Given the description of an element on the screen output the (x, y) to click on. 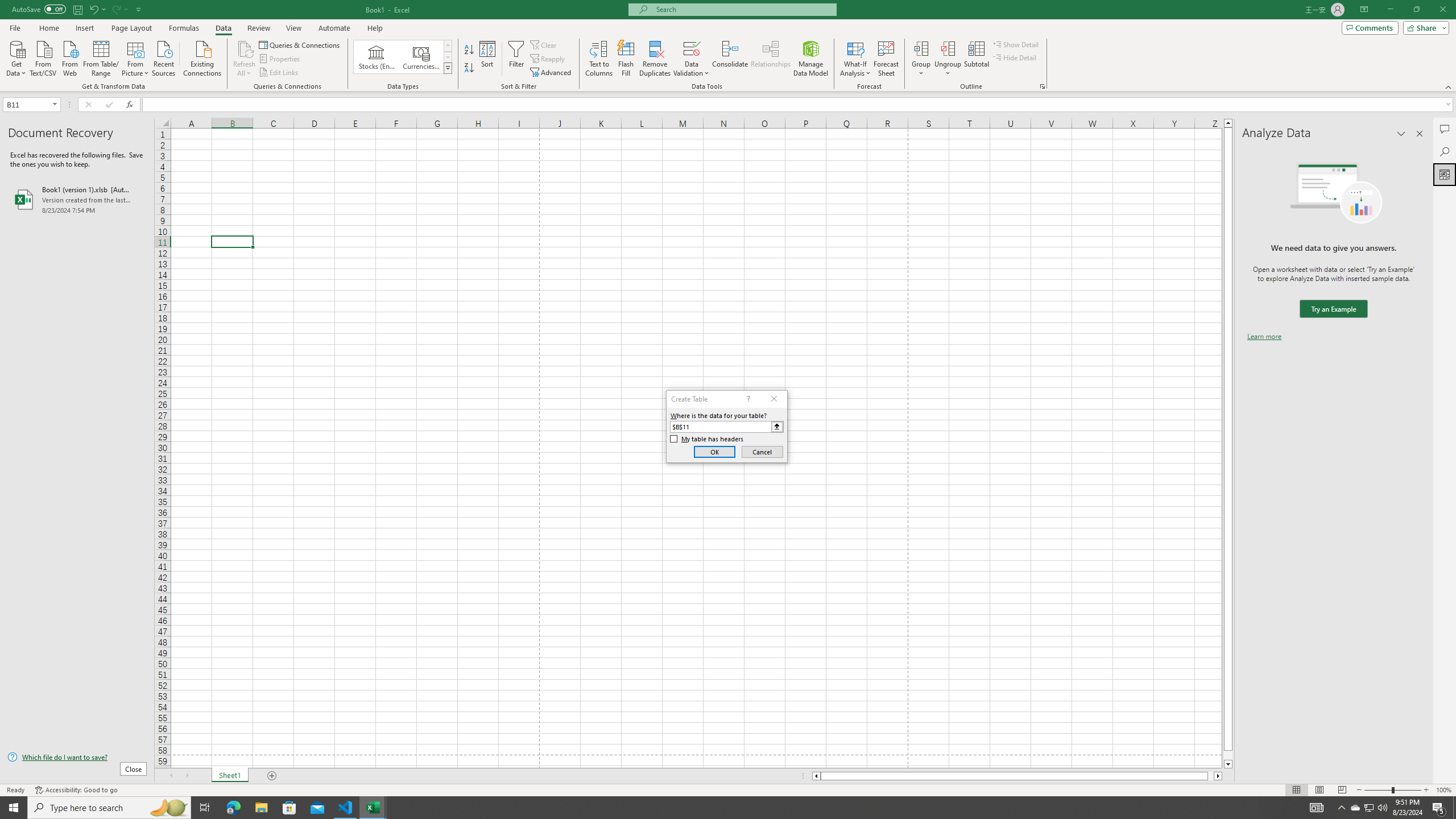
Sort A to Z (469, 49)
Flash Fill (625, 58)
Forecast Sheet (885, 58)
Relationships (770, 58)
